Given the description of an element on the screen output the (x, y) to click on. 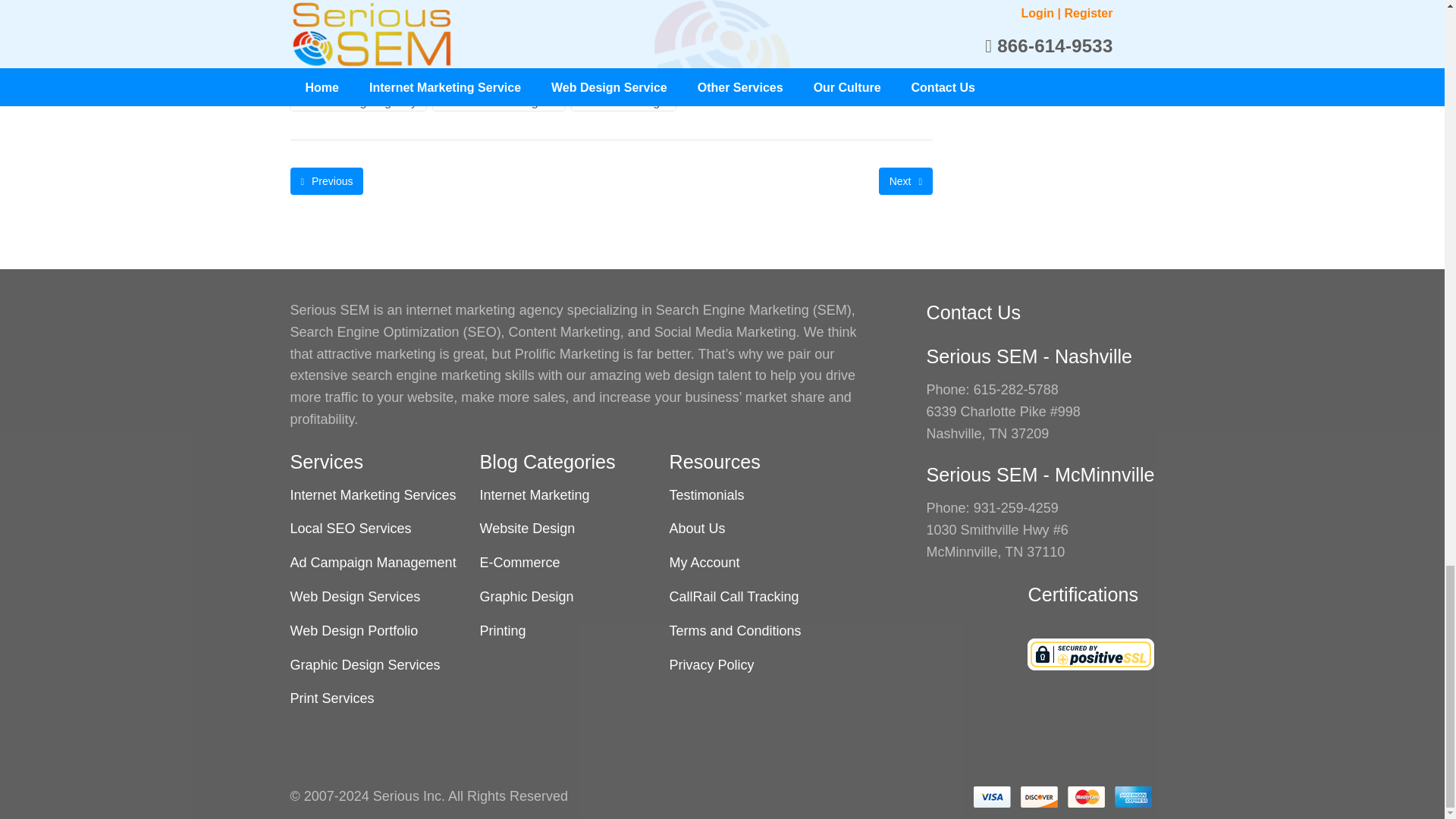
Hire a Web Designer (498, 101)
Website Design (623, 101)
Previous (325, 180)
Hire a Design Agency (357, 101)
Affordable Website Design (370, 79)
Custom Website Design (535, 79)
Next (906, 180)
